Given the description of an element on the screen output the (x, y) to click on. 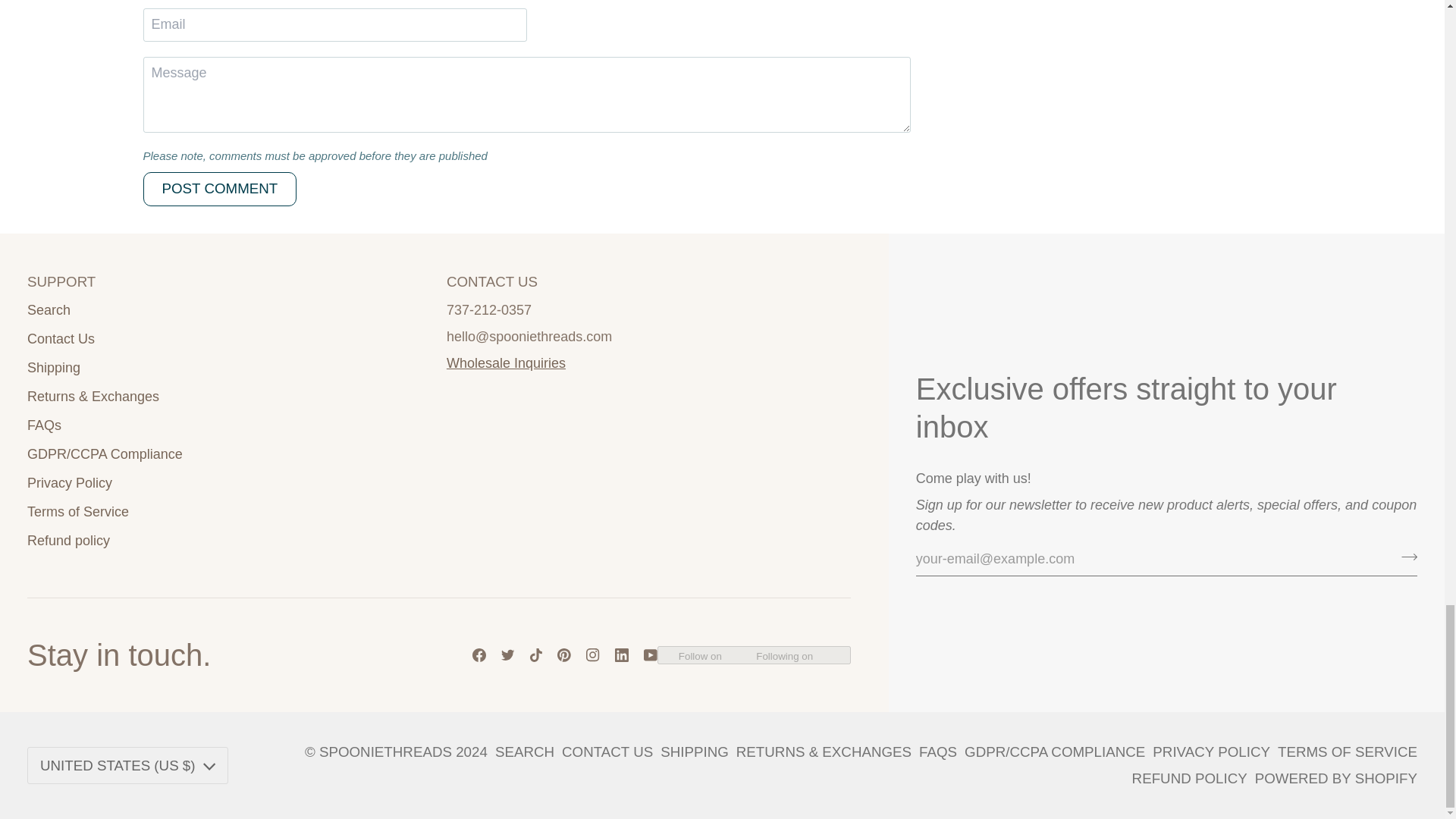
Pinterest (563, 654)
YouTube (650, 654)
Linkedin (621, 654)
Tiktok (535, 654)
Twitter (507, 654)
Facebook (478, 654)
Instagram (592, 654)
